Given the description of an element on the screen output the (x, y) to click on. 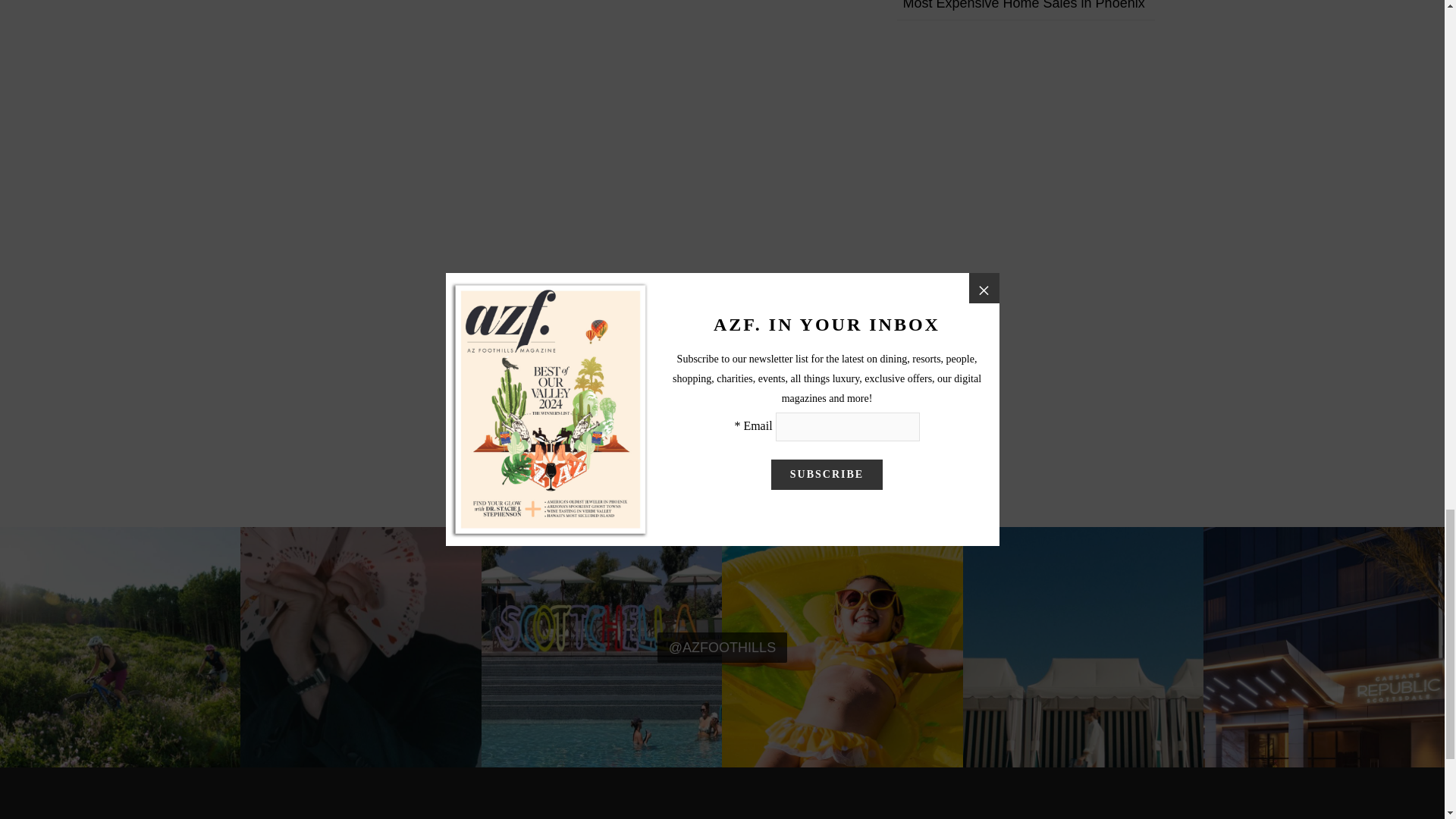
3rd party ad content (721, 813)
3rd party ad content (1017, 813)
3rd party ad content (425, 813)
